Given the description of an element on the screen output the (x, y) to click on. 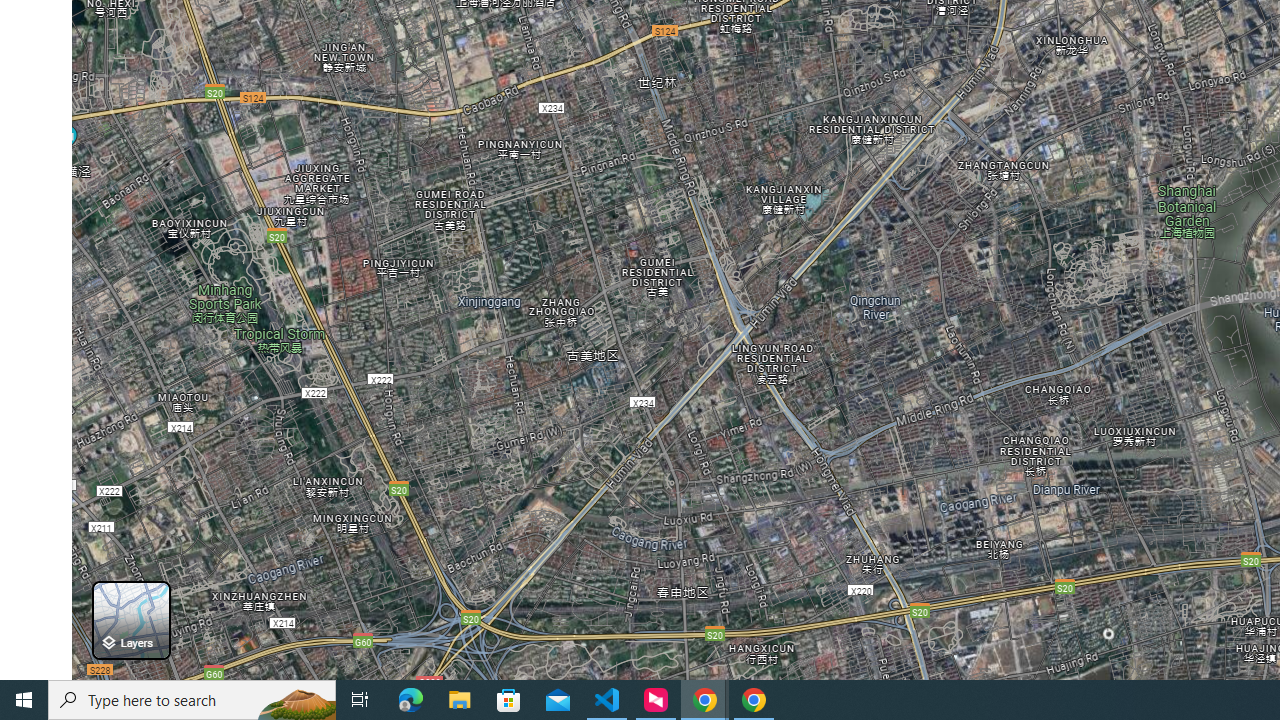
Layers (130, 620)
